Given the description of an element on the screen output the (x, y) to click on. 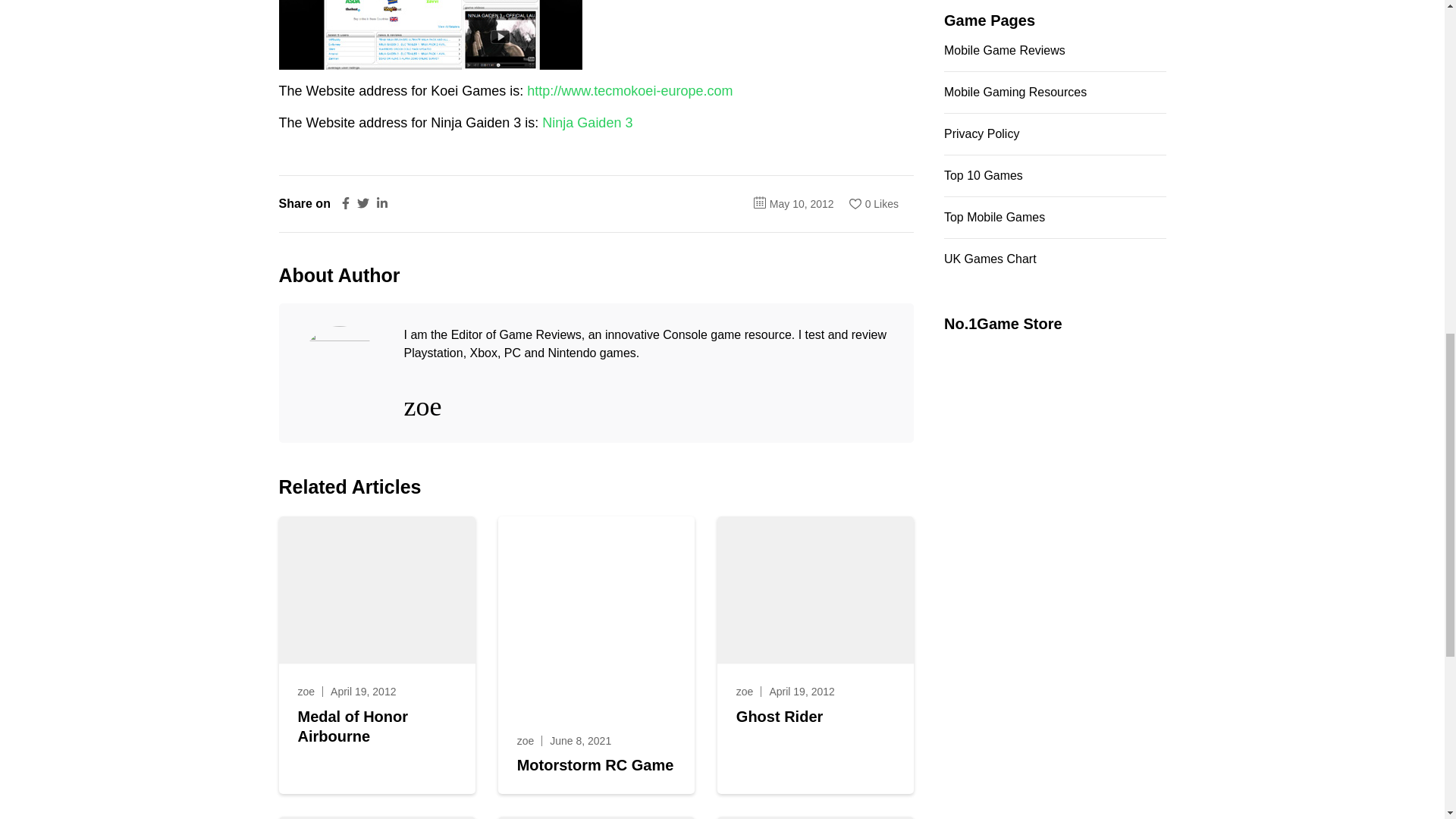
Medal of Honor Airbourne (376, 726)
Motorstorm RC Game (595, 764)
zoe (745, 691)
zoe (525, 740)
zoe (305, 691)
May 10, 2012 (802, 203)
June 8, 2021 (580, 740)
April 19, 2012 (363, 691)
Ninja Gaiden 3 (586, 122)
April 19, 2012 (801, 691)
Ghost Rider (779, 716)
Ninja Gaiden 3 (430, 34)
Ninja Gaiden 3 (586, 122)
